Given the description of an element on the screen output the (x, y) to click on. 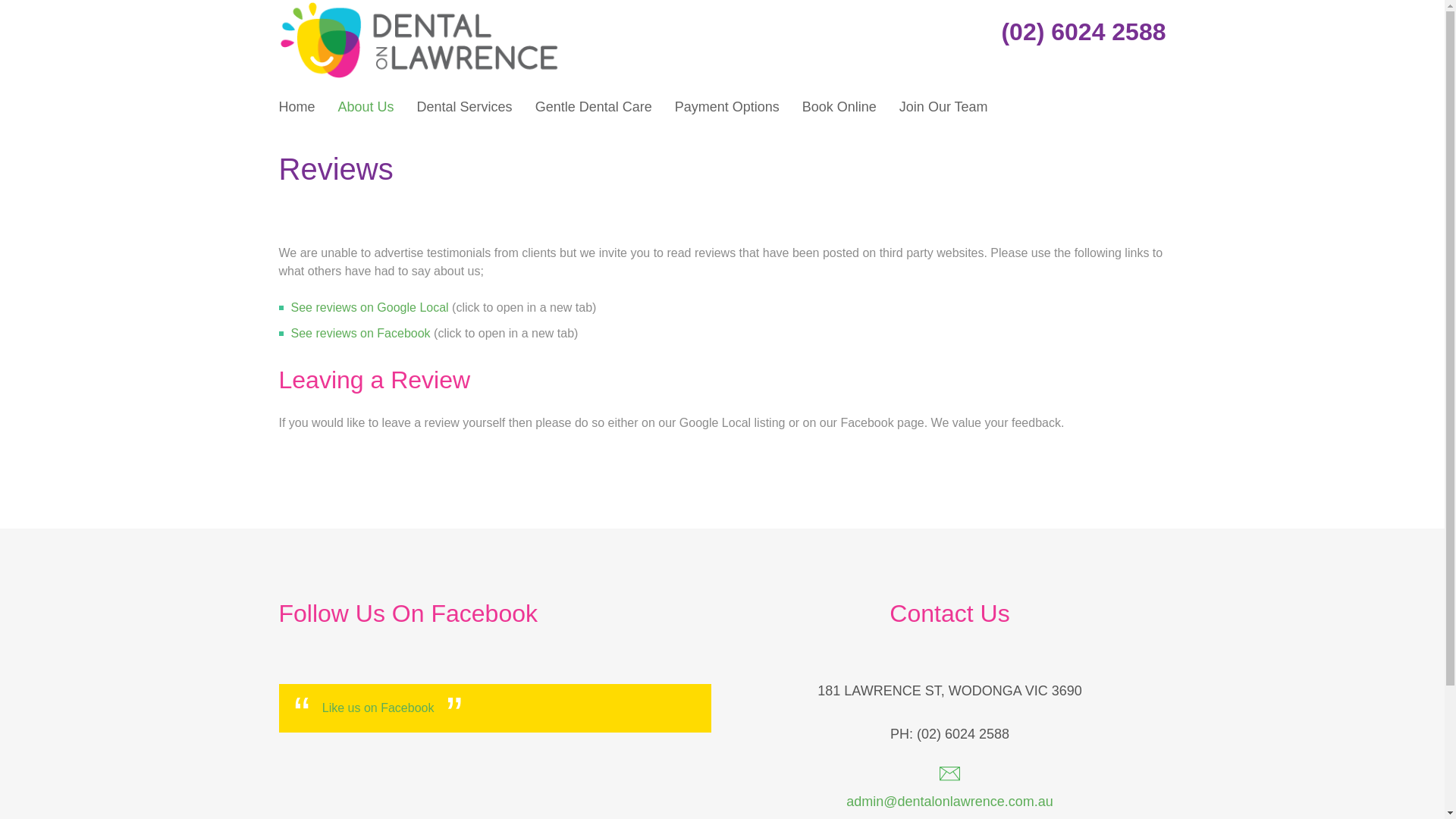
Home Element type: text (297, 106)
Payment Options Element type: text (726, 106)
Home Element type: hover (419, 8)
admin@dentalonlawrence.com.au Element type: text (949, 789)
Skip to navigation Element type: text (47, 0)
About Us Element type: text (366, 106)
Dental Services Element type: text (464, 106)
Join Our Team Element type: text (943, 106)
Gentle Dental Care Element type: text (593, 106)
See reviews on Google Local Element type: text (369, 307)
Skip to main content Element type: text (54, 0)
See reviews on Facebook Element type: text (360, 332)
Like us on Facebook Element type: text (378, 707)
Book Online Element type: text (839, 106)
